Given the description of an element on the screen output the (x, y) to click on. 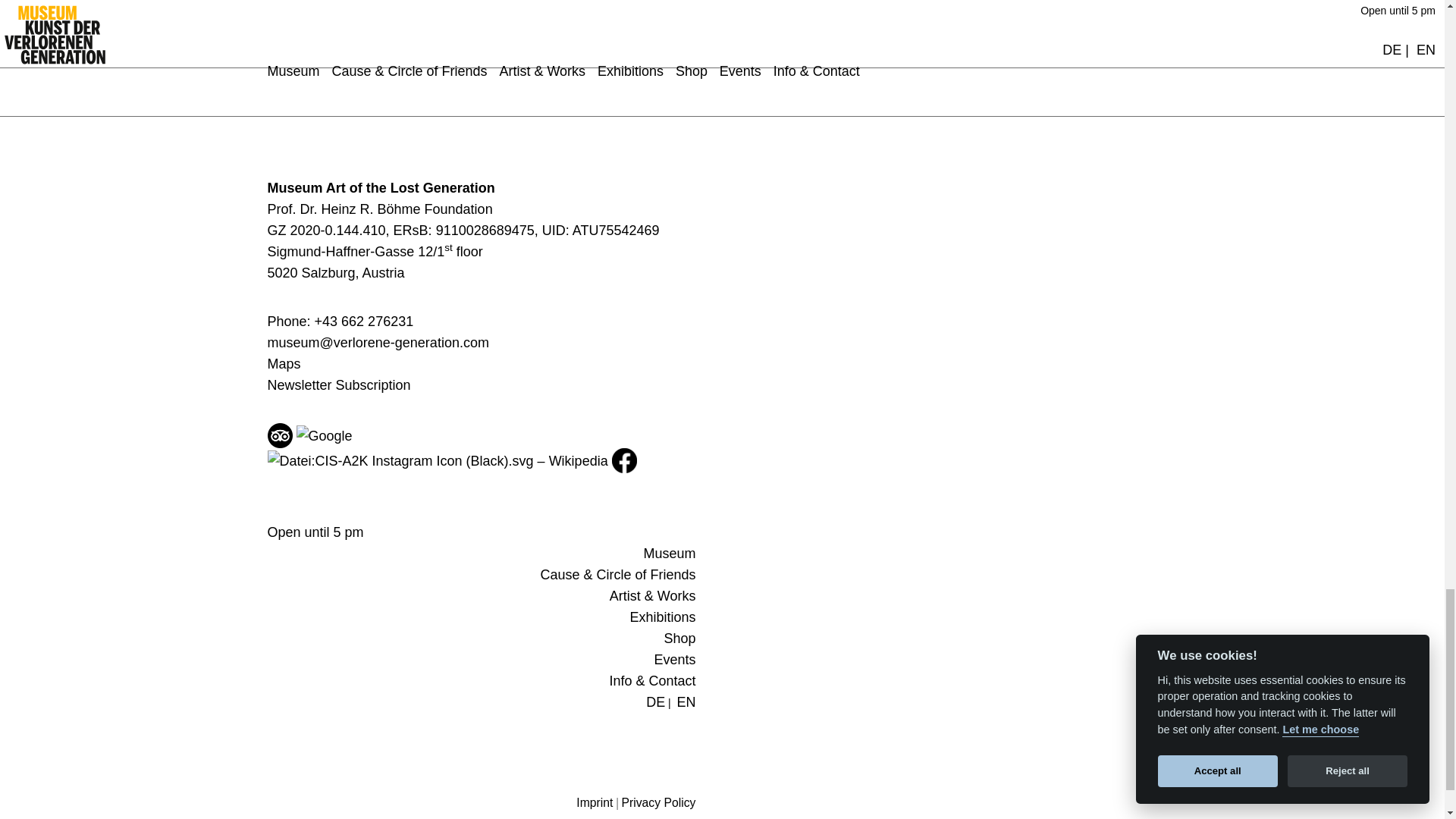
Telefon (339, 321)
E-Mail (376, 342)
